Given the description of an element on the screen output the (x, y) to click on. 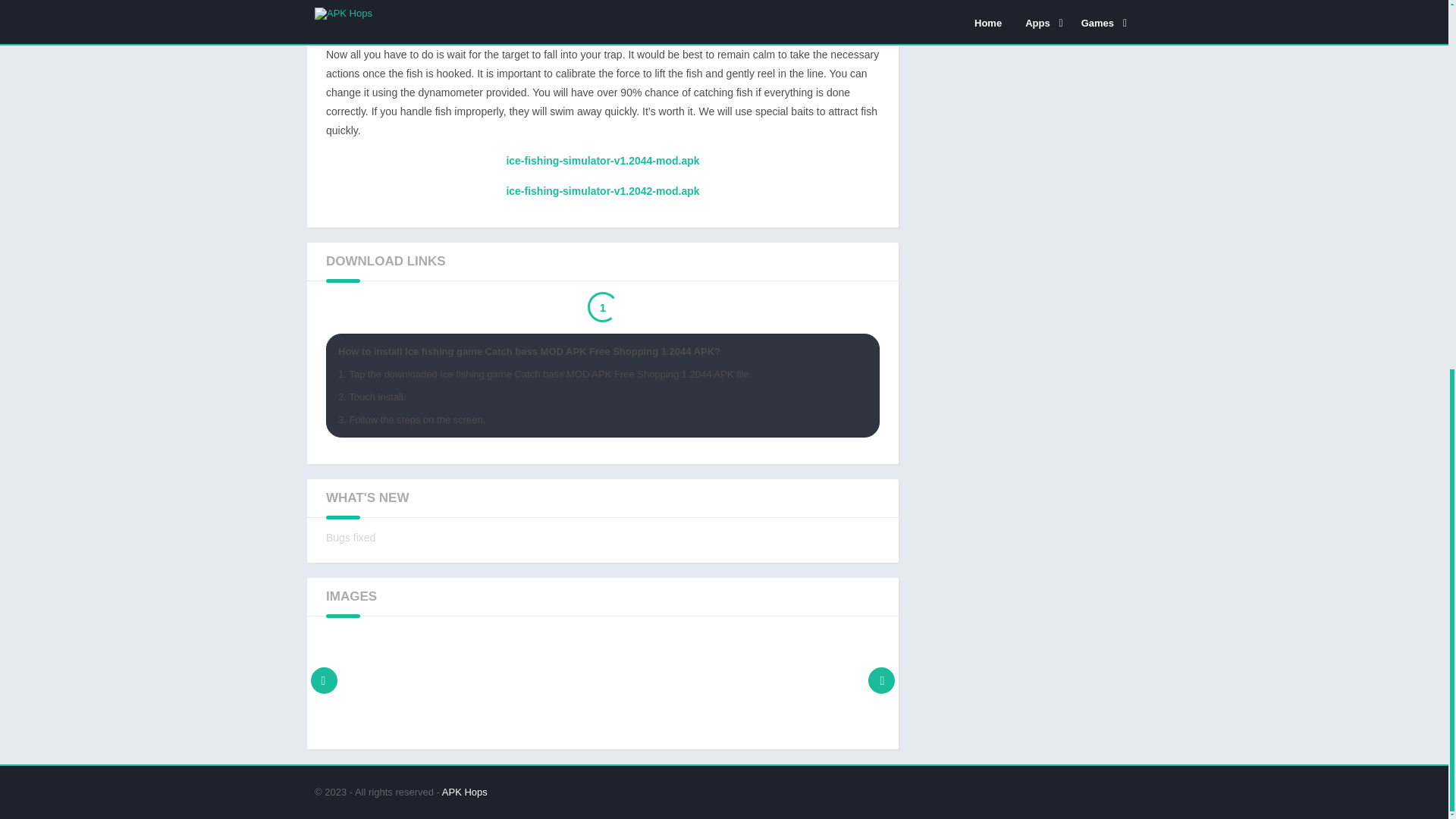
Previous (323, 680)
Next (881, 680)
